Given the description of an element on the screen output the (x, y) to click on. 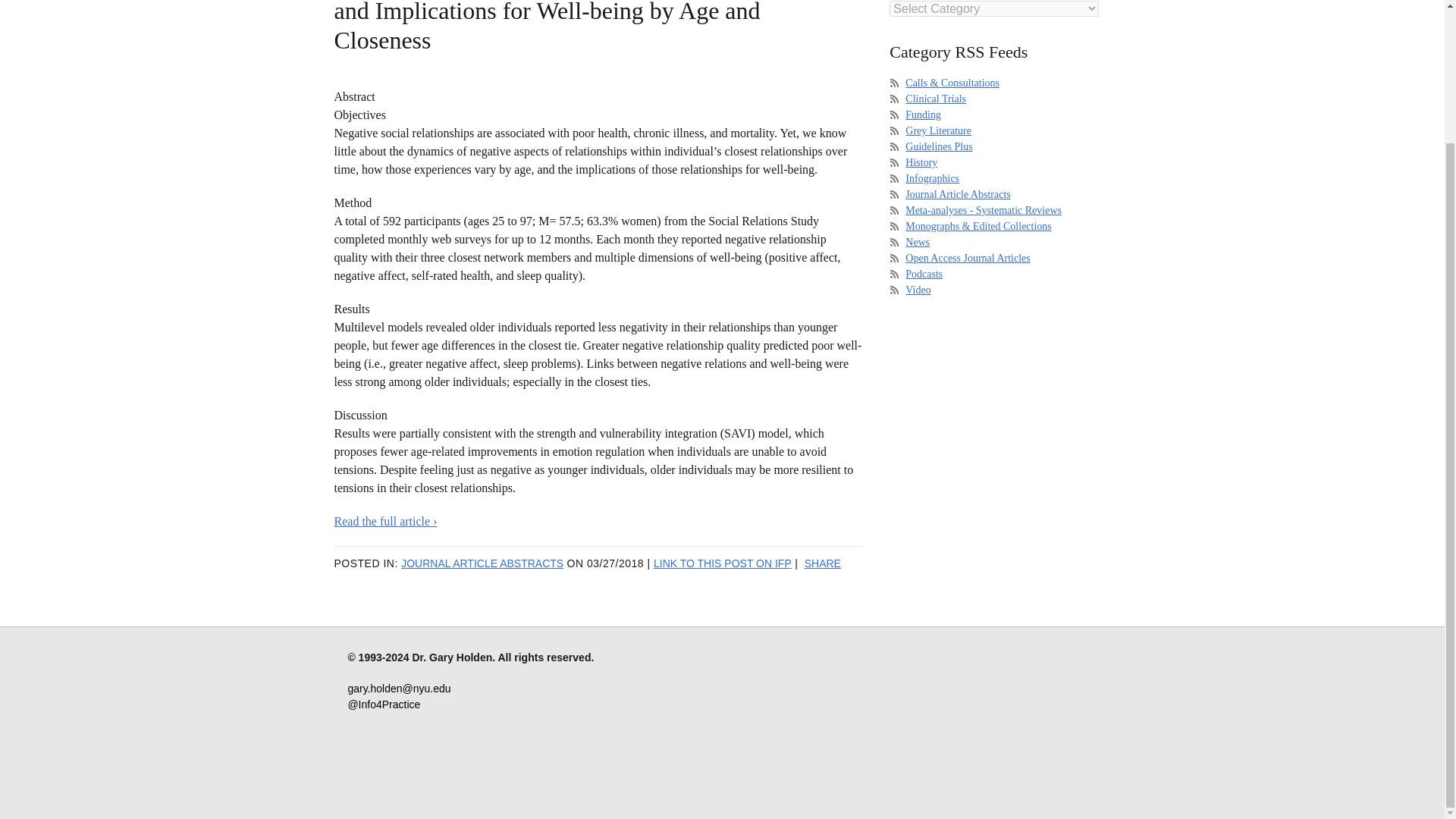
Funding (922, 114)
LINK TO THIS POST ON IFP (722, 563)
Infographics (932, 178)
Grey Literature (938, 130)
Meta-analyses - Systematic Reviews (983, 210)
JOURNAL ARTICLE ABSTRACTS (482, 563)
Guidelines Plus (938, 146)
History (921, 162)
SHARE (823, 563)
Podcasts (923, 274)
